Given the description of an element on the screen output the (x, y) to click on. 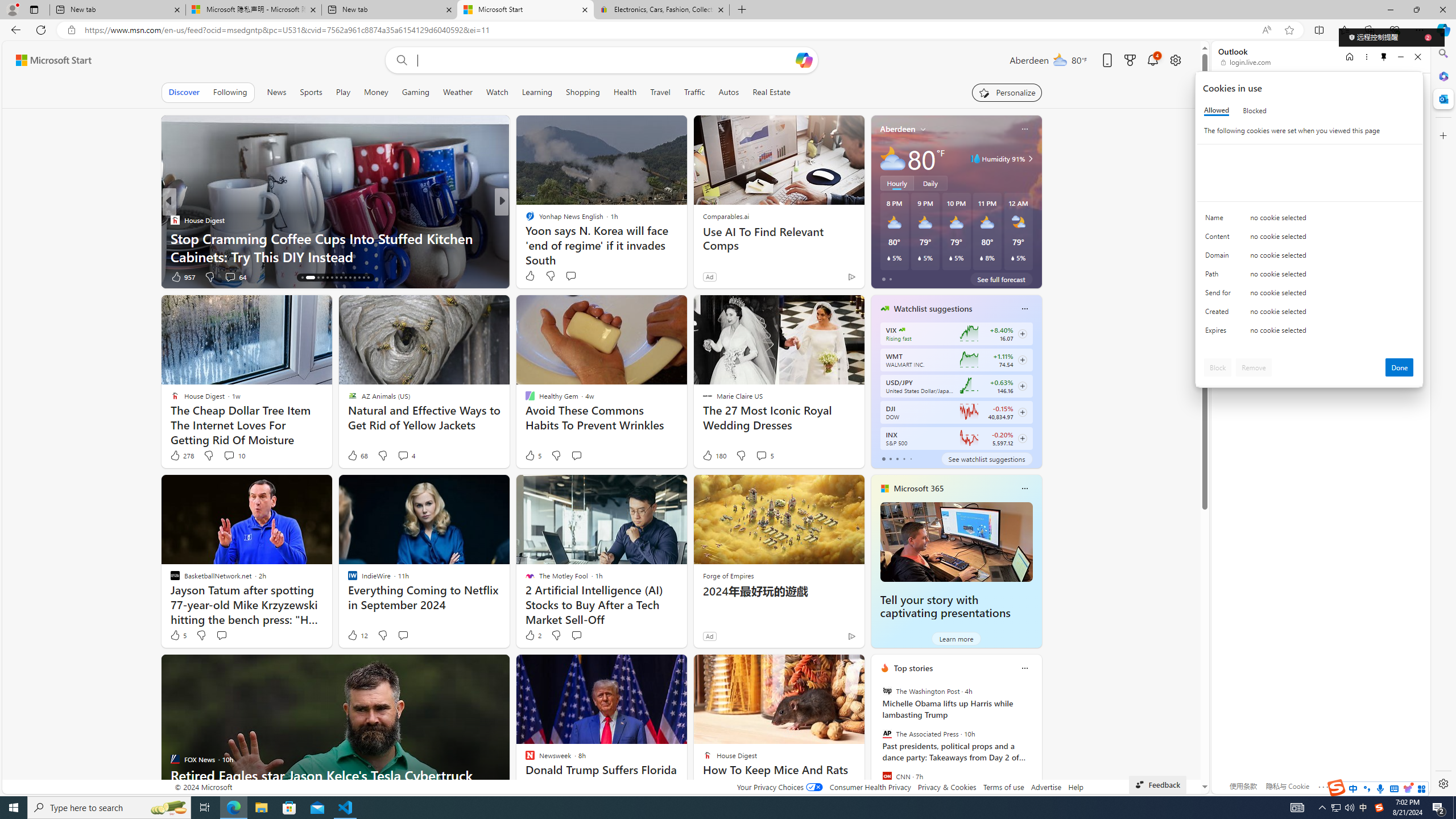
Reuters (524, 219)
View comments 18 Comment (580, 276)
Learn more (956, 638)
View comments 5 Comment (761, 455)
tab-1 (889, 458)
Send for (1219, 295)
AutomationID: tab-24 (349, 277)
